Given the description of an element on the screen output the (x, y) to click on. 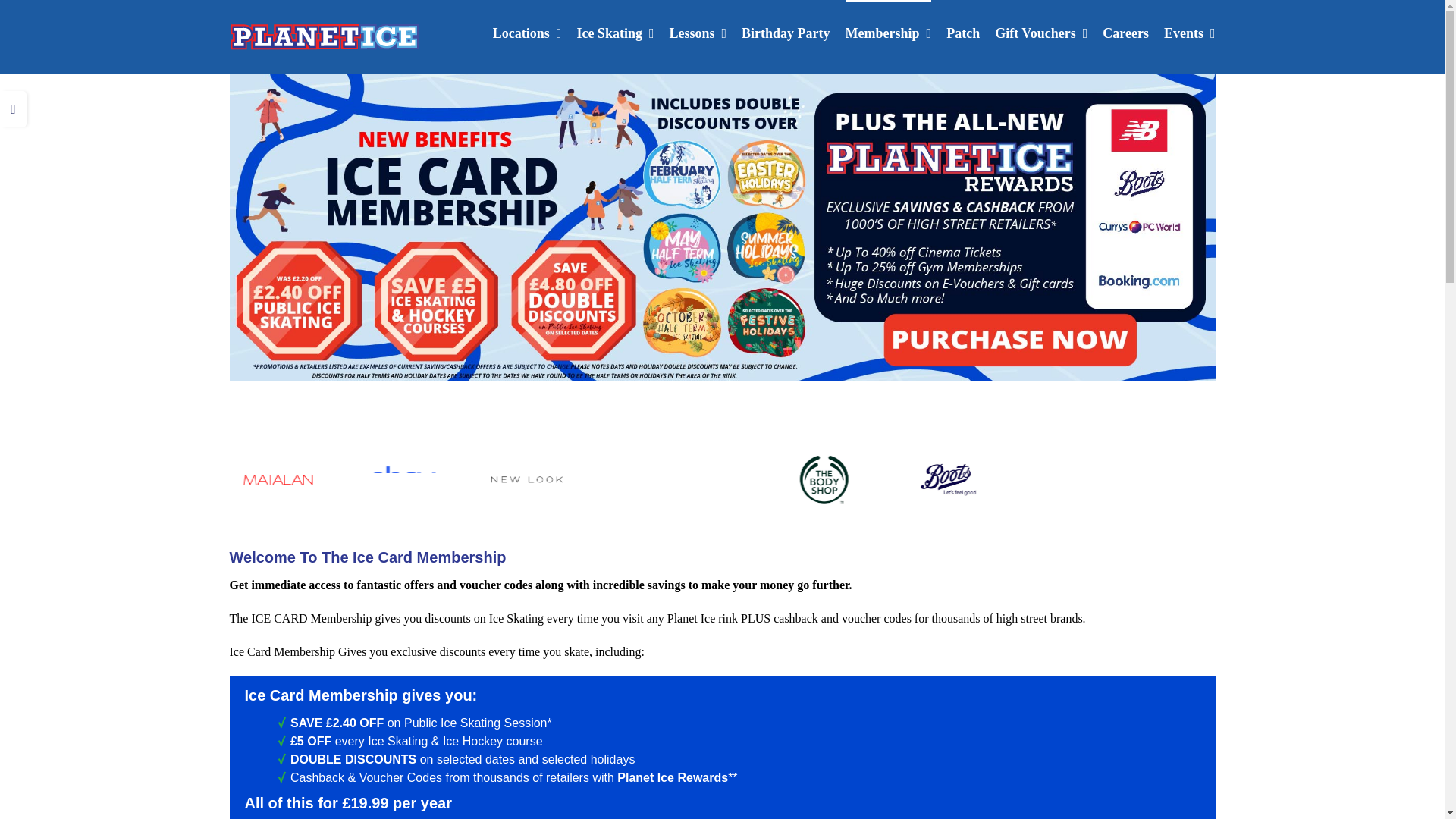
Lessons (697, 31)
Birthday Party (785, 31)
Locations (527, 31)
Ice Skating (614, 31)
Gift Vouchers (1040, 31)
Membership (888, 31)
